Given the description of an element on the screen output the (x, y) to click on. 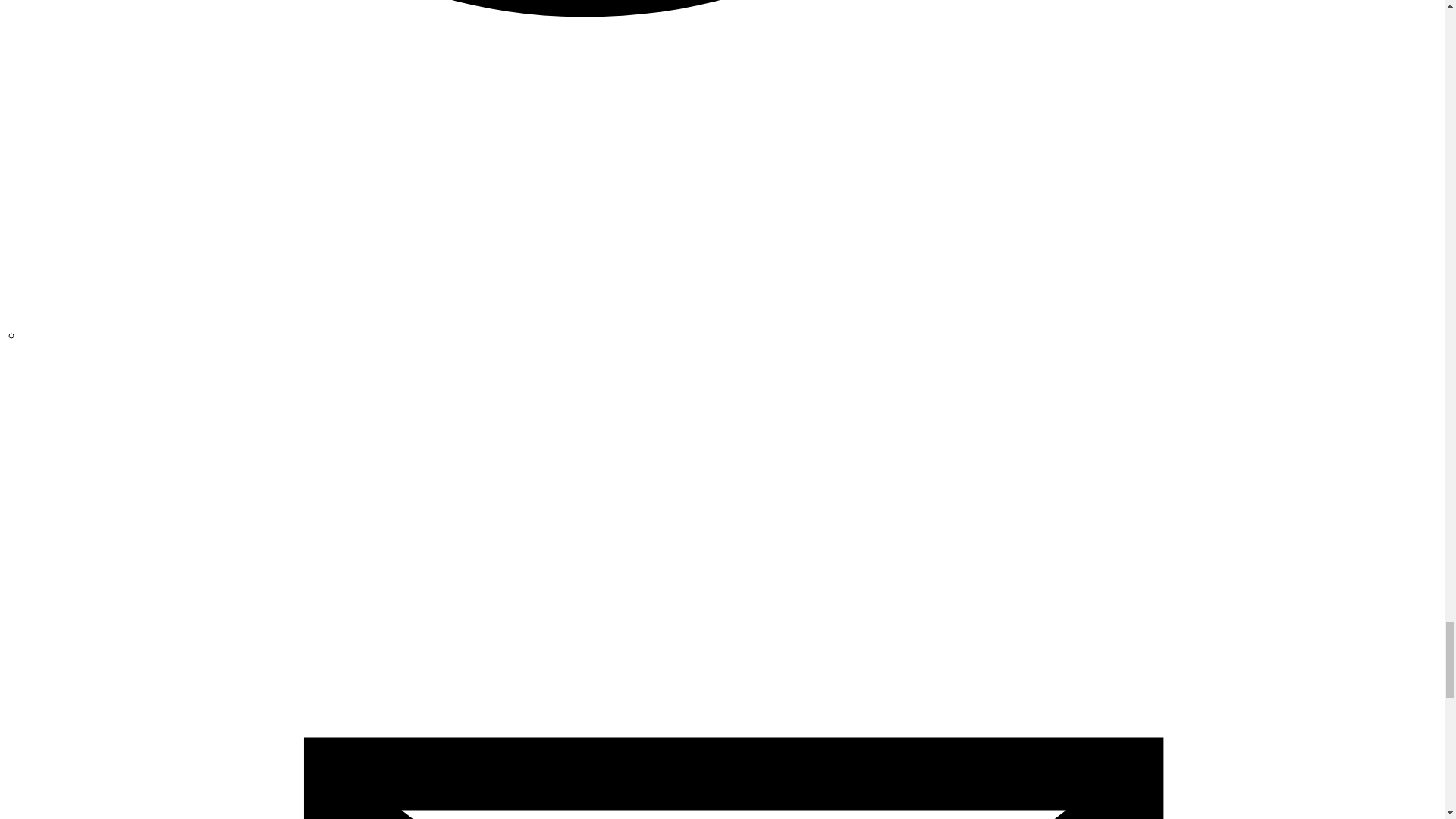
Twitter (733, 334)
